Given the description of an element on the screen output the (x, y) to click on. 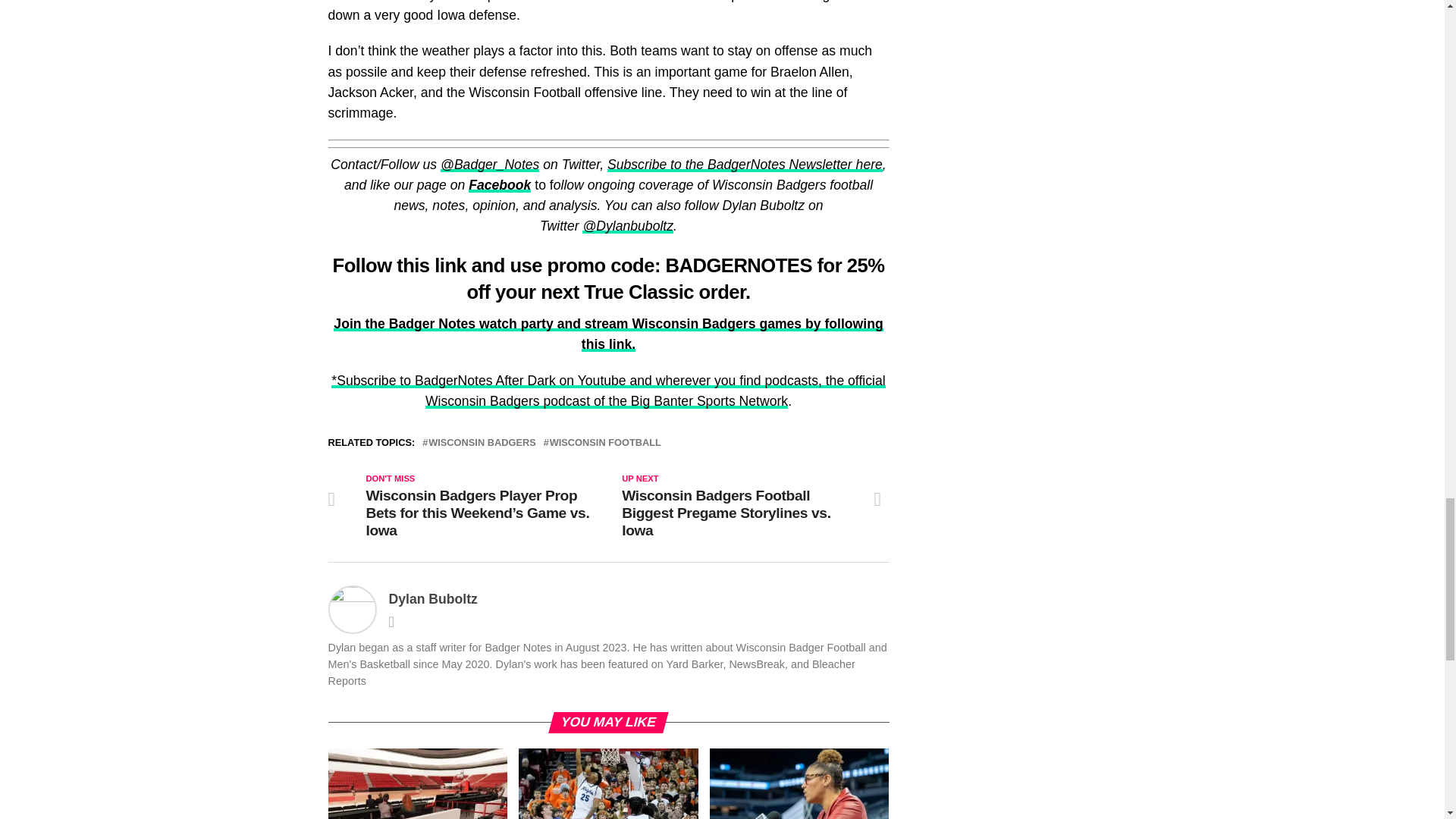
Posts by Dylan Buboltz (432, 598)
